Given the description of an element on the screen output the (x, y) to click on. 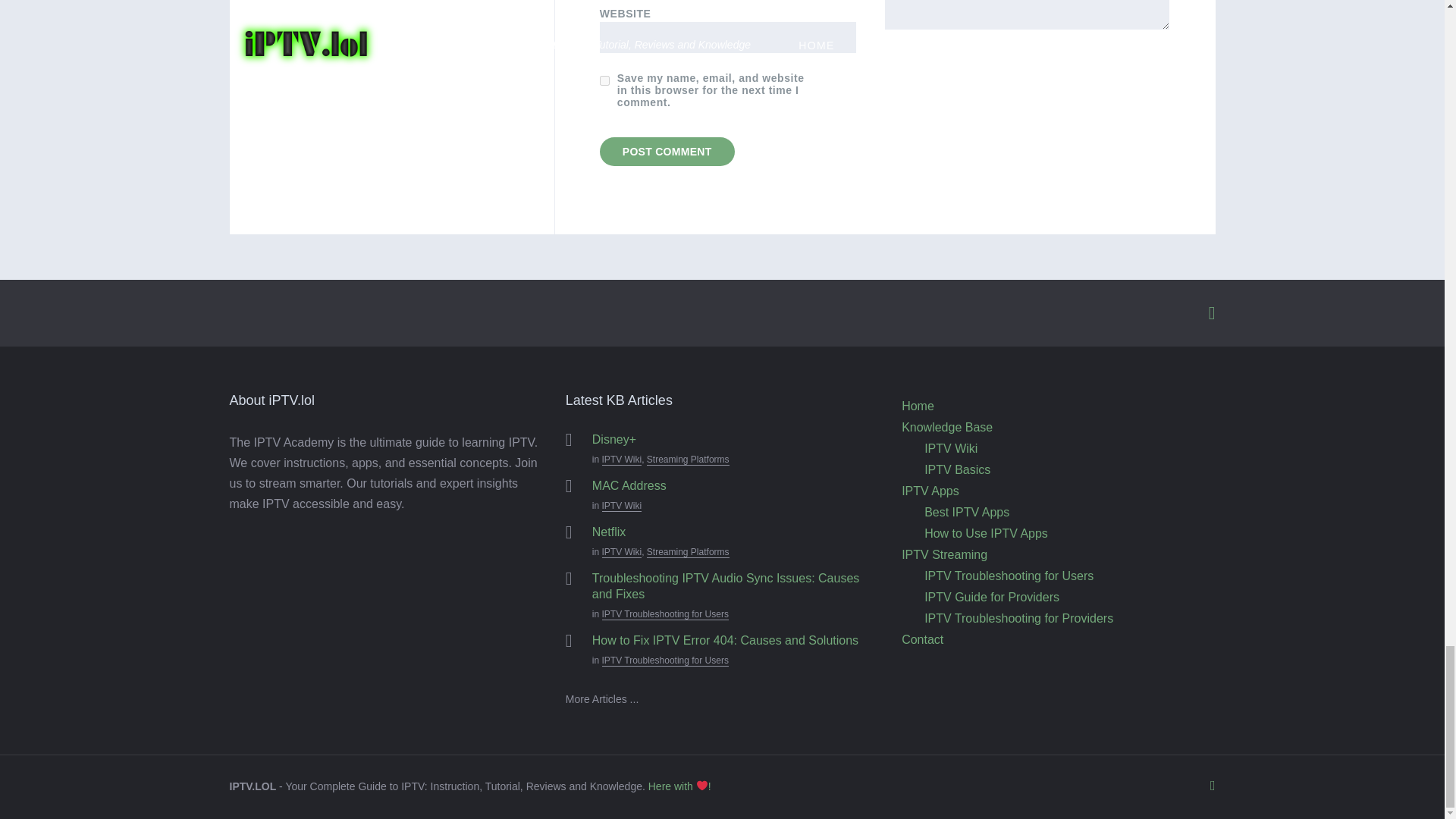
yes (604, 80)
Post Comment (667, 151)
